Given the description of an element on the screen output the (x, y) to click on. 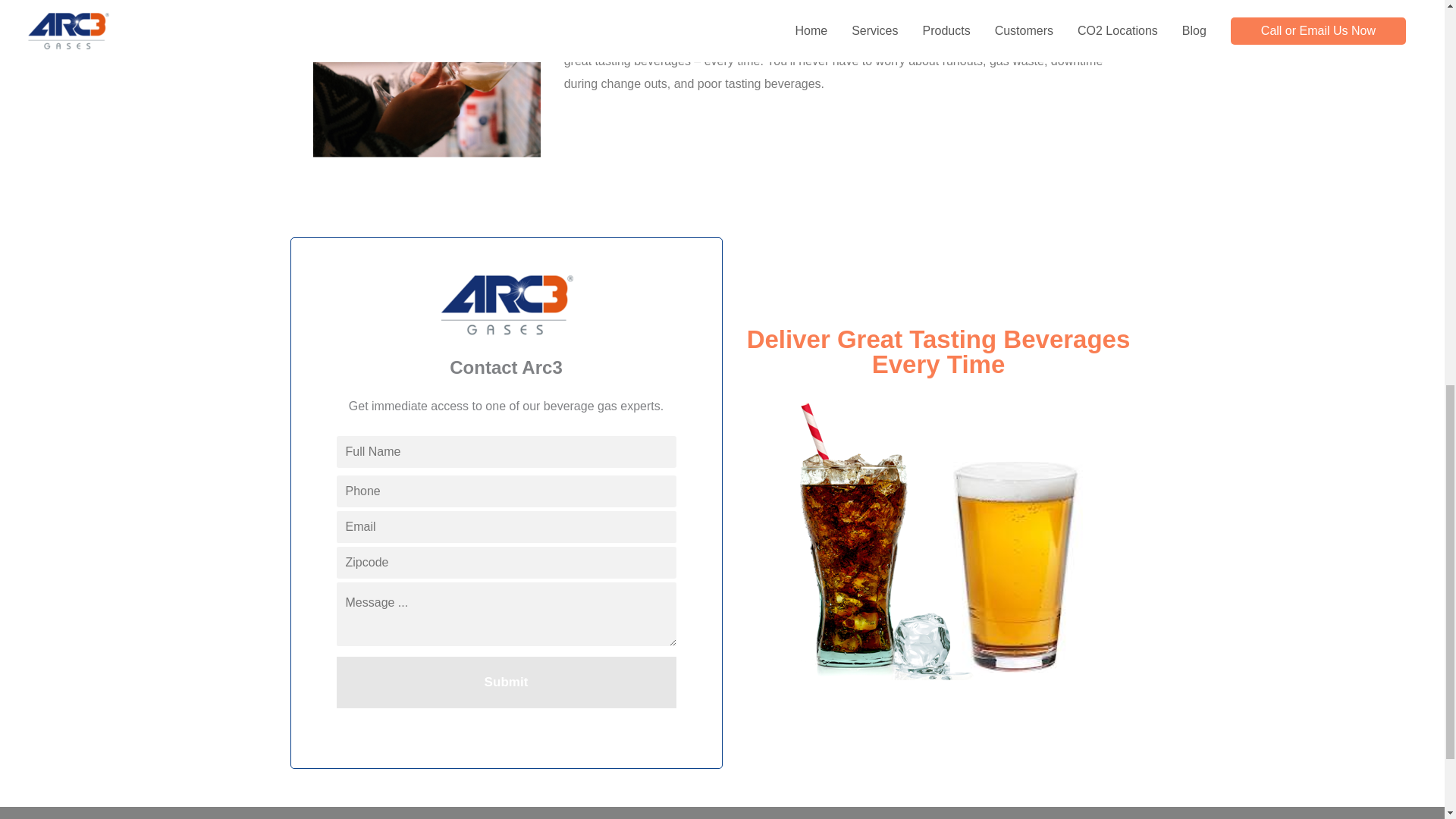
Submit (506, 682)
Submit (506, 682)
